Given the description of an element on the screen output the (x, y) to click on. 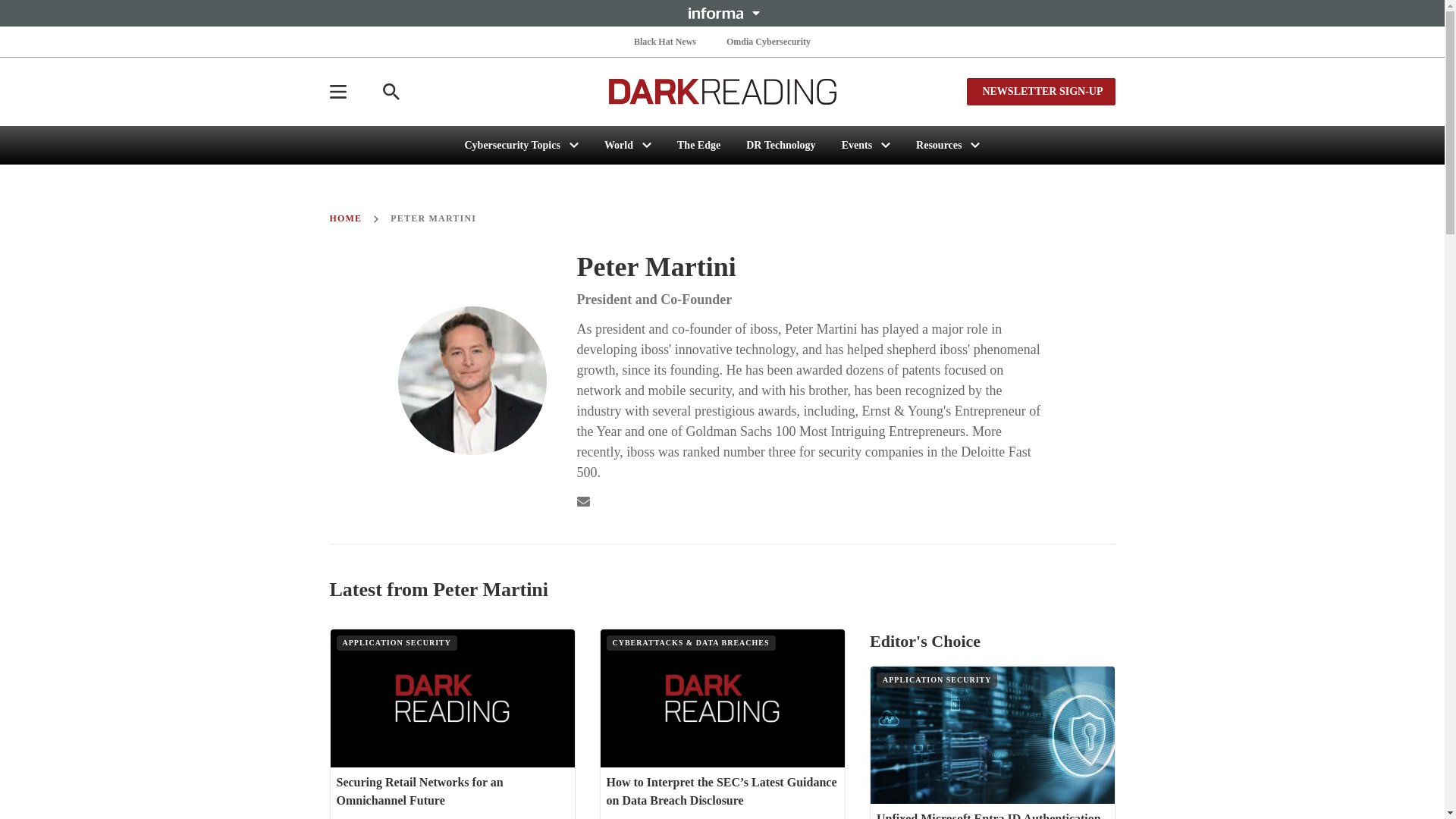
Dark Reading Logo (721, 91)
Omdia Cybersecurity (768, 41)
NEWSLETTER SIGN-UP (1040, 90)
Black Hat News (664, 41)
